Given the description of an element on the screen output the (x, y) to click on. 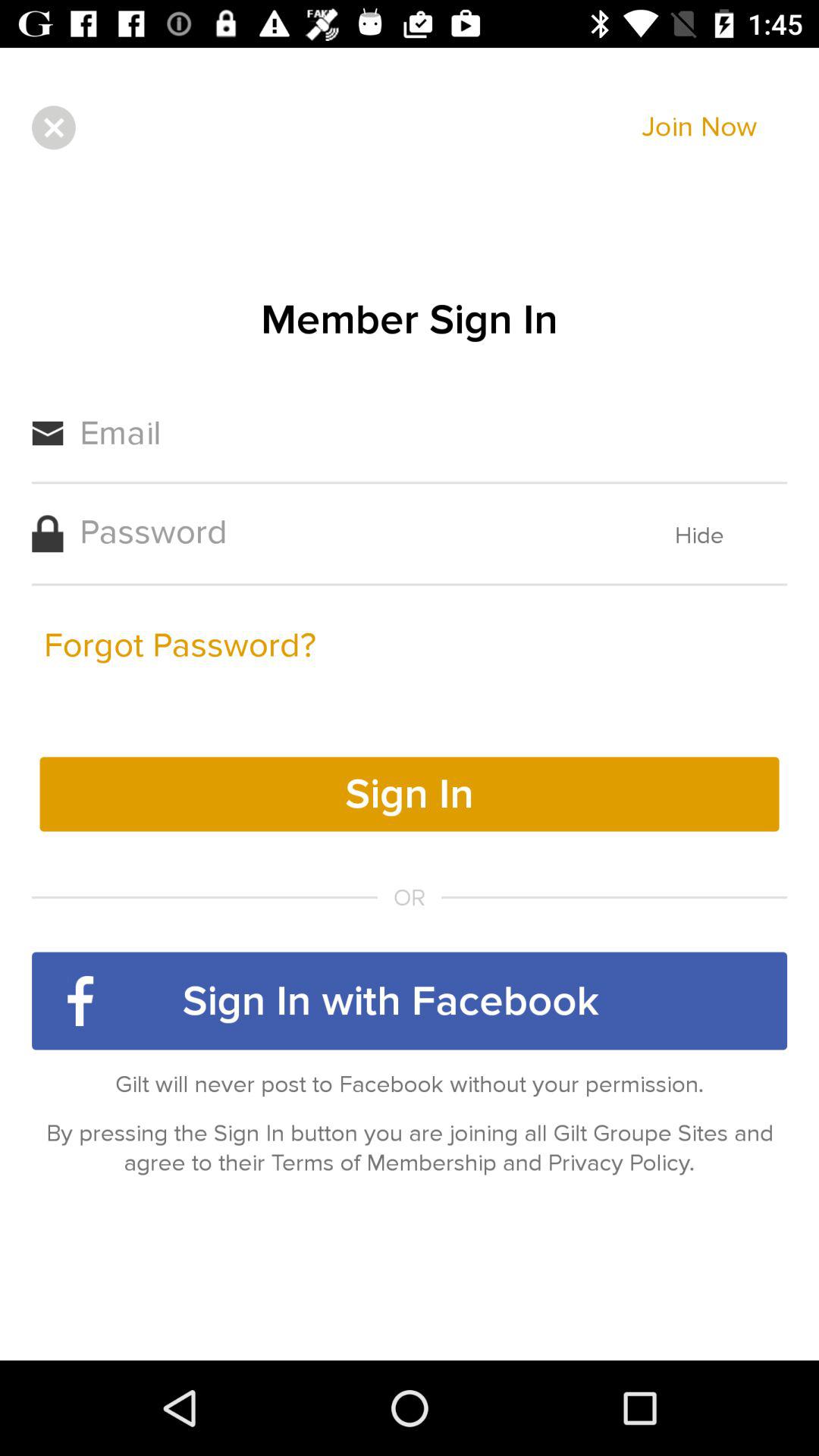
select icon to the left of the join now item (53, 127)
